Given the description of an element on the screen output the (x, y) to click on. 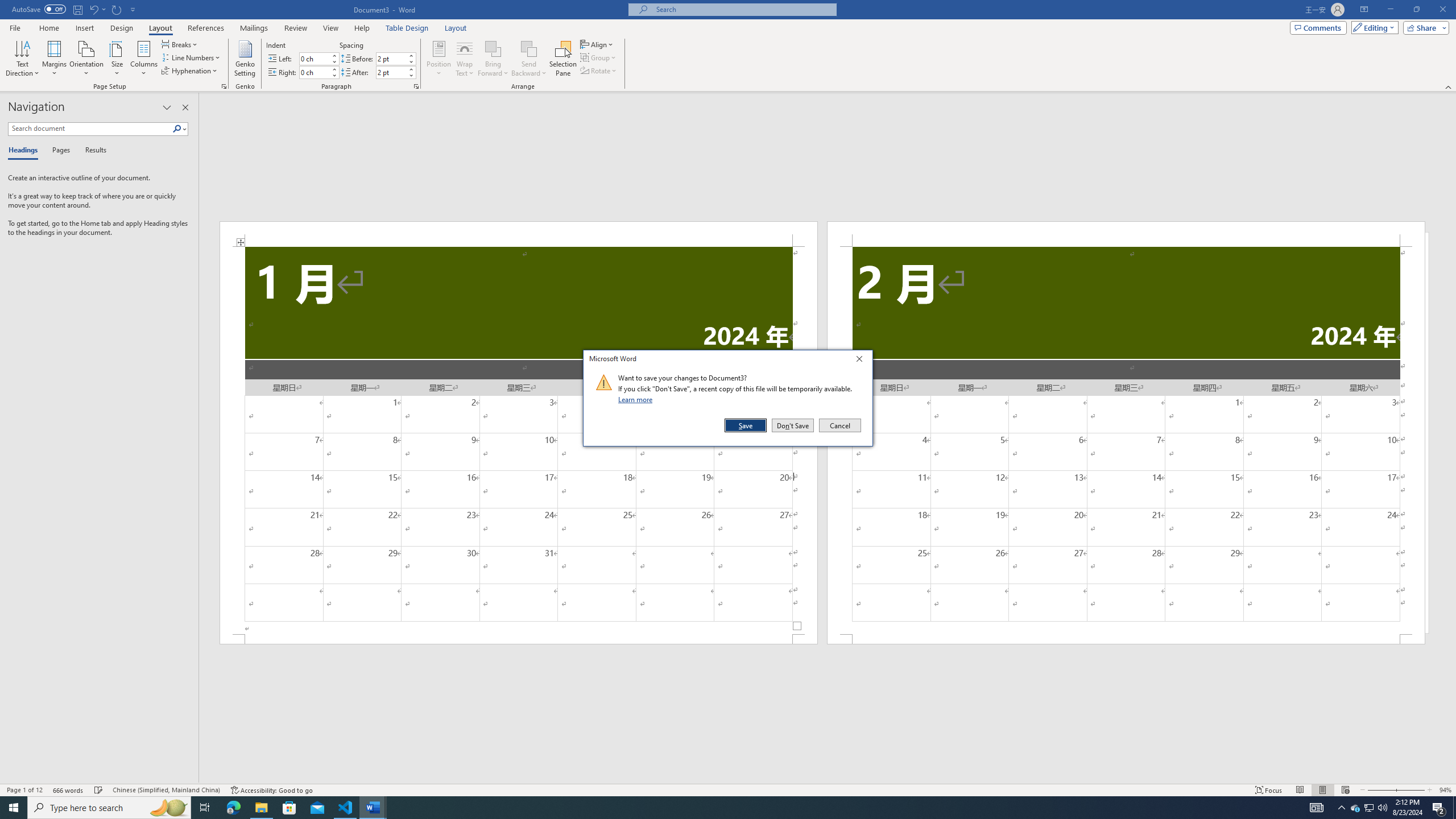
Text Direction (22, 58)
Don't Save (792, 425)
